Given the description of an element on the screen output the (x, y) to click on. 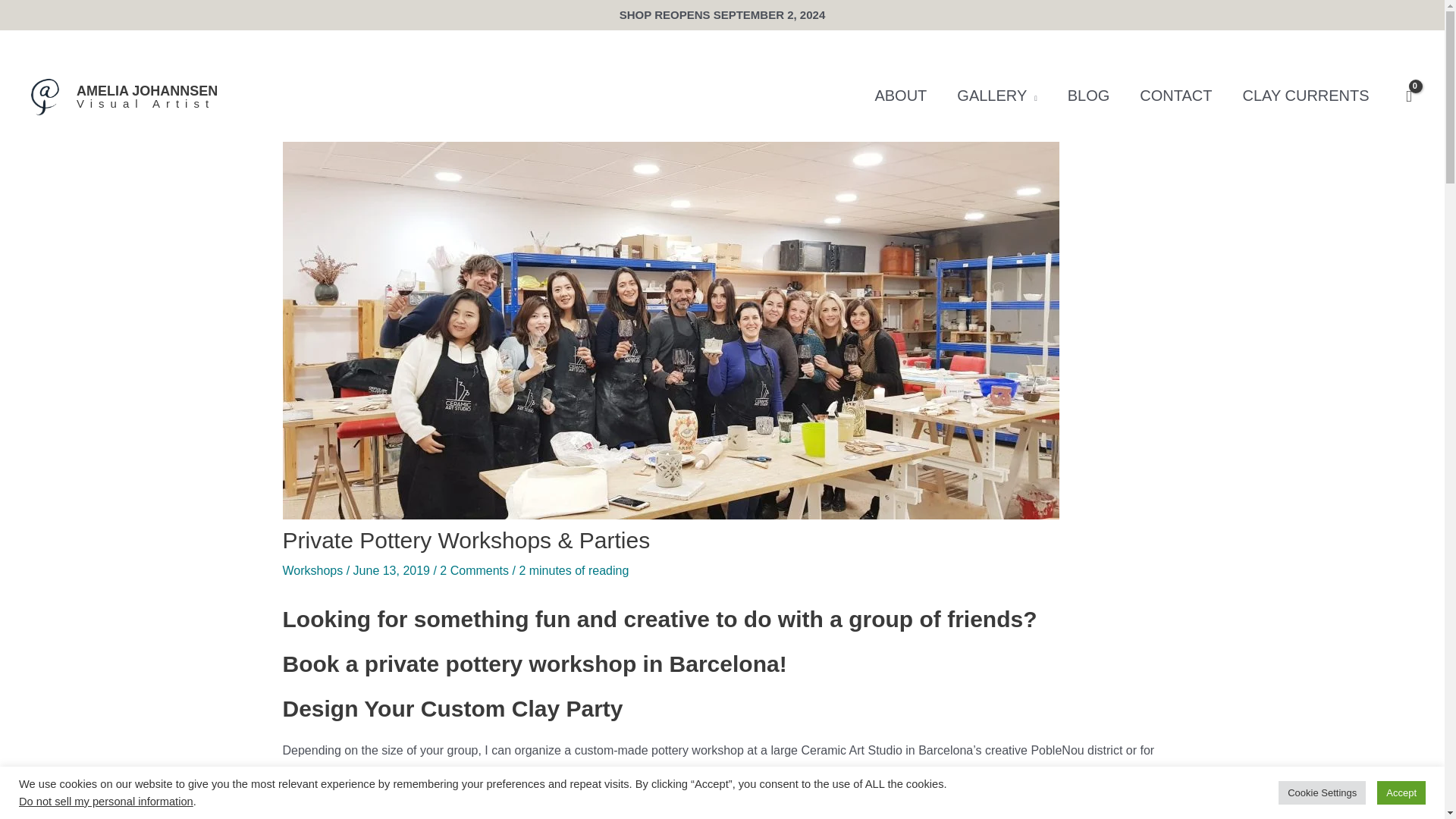
GALLERY (996, 95)
BLOG (1088, 95)
ABOUT (900, 95)
AMELIA JOHANNSEN (146, 90)
CLAY CURRENTS (1305, 95)
CONTACT (1175, 95)
